Given the description of an element on the screen output the (x, y) to click on. 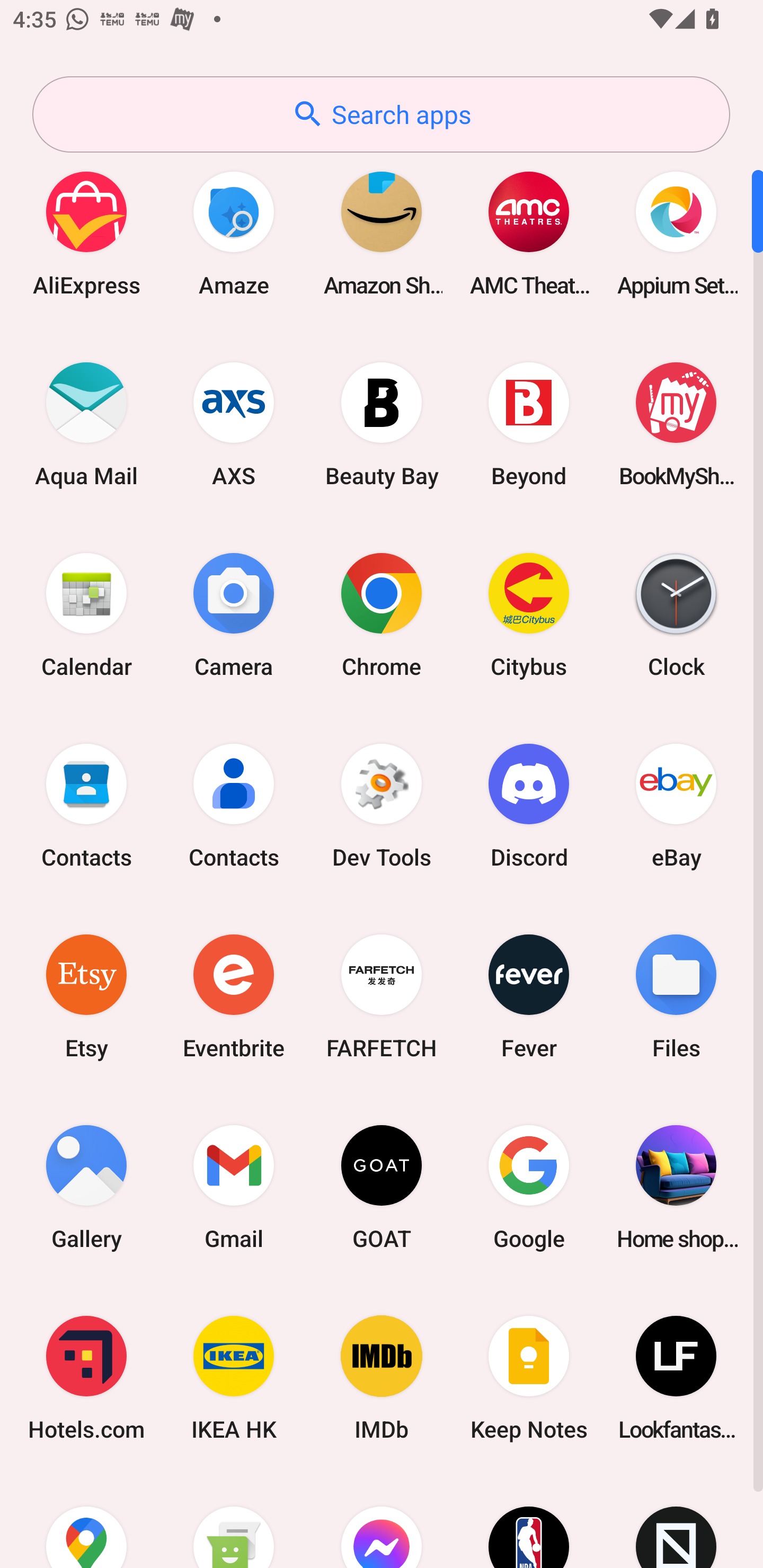
  Search apps (381, 114)
AliExpress (86, 233)
Amaze (233, 233)
Amazon Shopping (381, 233)
AMC Theatres (528, 233)
Appium Settings (676, 233)
Aqua Mail (86, 424)
AXS (233, 424)
Beauty Bay (381, 424)
Beyond (528, 424)
BookMyShow (676, 424)
Calendar (86, 614)
Camera (233, 614)
Chrome (381, 614)
Citybus (528, 614)
Clock (676, 614)
Contacts (86, 805)
Contacts (233, 805)
Dev Tools (381, 805)
Discord (528, 805)
eBay (676, 805)
Etsy (86, 996)
Eventbrite (233, 996)
FARFETCH (381, 996)
Fever (528, 996)
Files (676, 996)
Gallery (86, 1186)
Gmail (233, 1186)
GOAT (381, 1186)
Google (528, 1186)
Home shopping (676, 1186)
Hotels.com (86, 1377)
IKEA HK (233, 1377)
IMDb (381, 1377)
Keep Notes (528, 1377)
Lookfantastic (676, 1377)
Maps (86, 1520)
Messaging (233, 1520)
Messenger (381, 1520)
NBA (528, 1520)
Novelship (676, 1520)
